Given the description of an element on the screen output the (x, y) to click on. 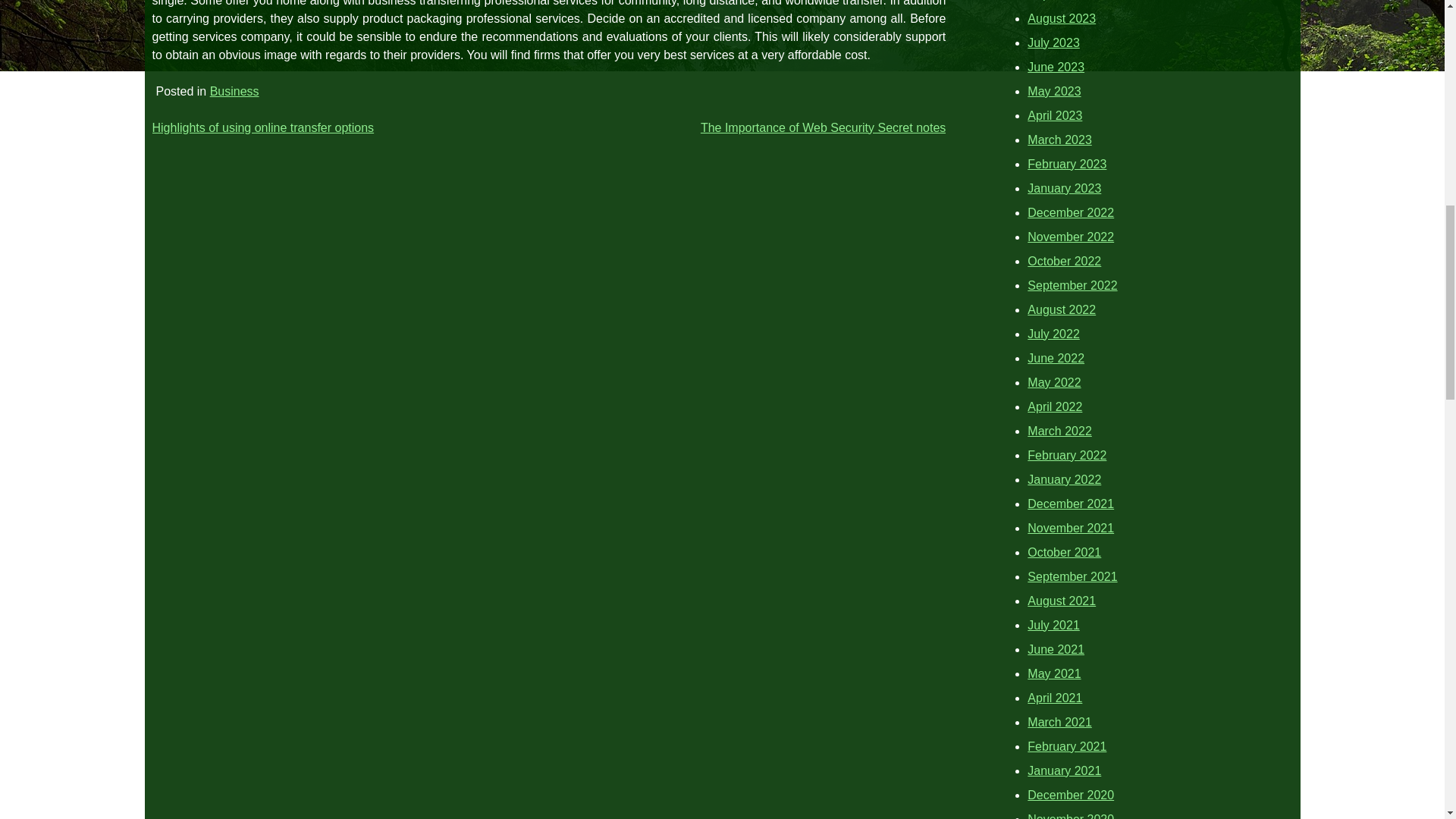
Business (234, 91)
January 2023 (1063, 187)
February 2023 (1066, 164)
Highlights of using online transfer options (262, 127)
June 2023 (1055, 66)
The Importance of Web Security Secret notes (822, 127)
April 2023 (1054, 115)
March 2023 (1059, 139)
May 2023 (1053, 91)
October 2022 (1063, 260)
